Given the description of an element on the screen output the (x, y) to click on. 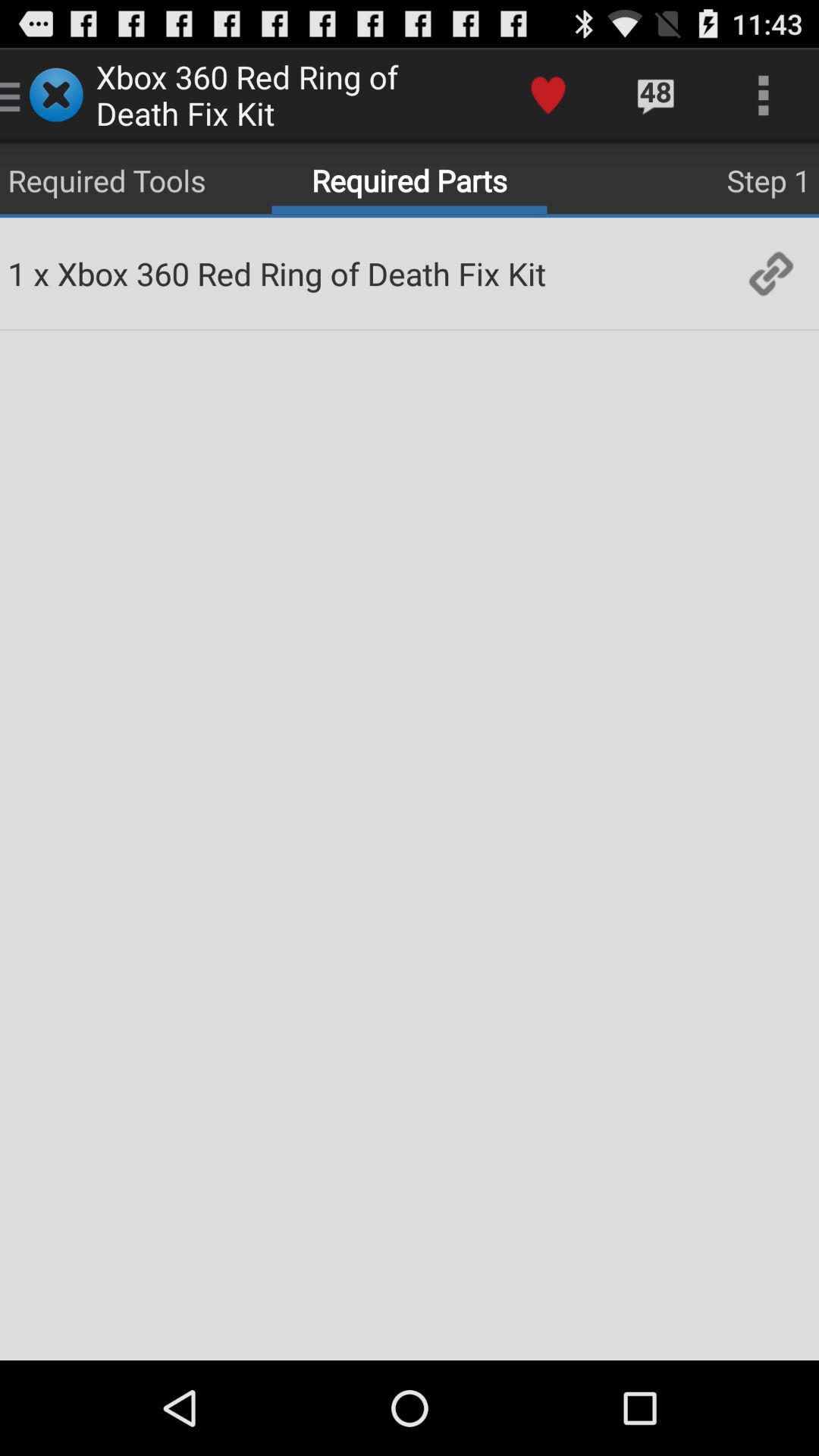
launch the x app (41, 273)
